Given the description of an element on the screen output the (x, y) to click on. 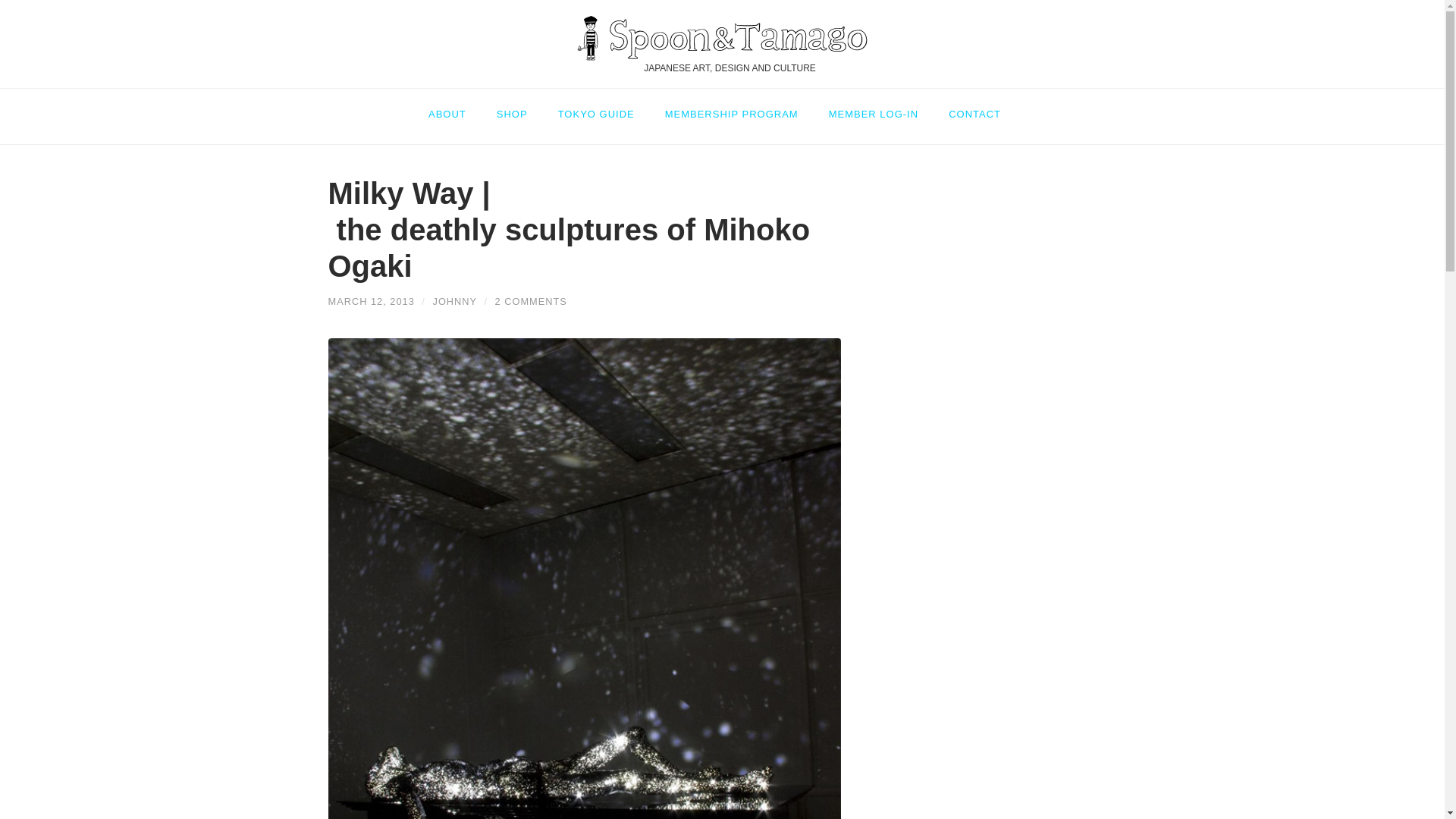
MARCH 12, 2013 (370, 301)
JAPANESE ART, DESIGN AND CULTURE (721, 43)
MEMBERSHIP PROGRAM (731, 107)
2 COMMENTS (531, 301)
CONTACT (974, 107)
JOHNNY (454, 301)
SHOP (512, 107)
MEMBER LOG-IN (873, 107)
TOKYO GUIDE (596, 107)
Posts by Johnny (454, 301)
